Given the description of an element on the screen output the (x, y) to click on. 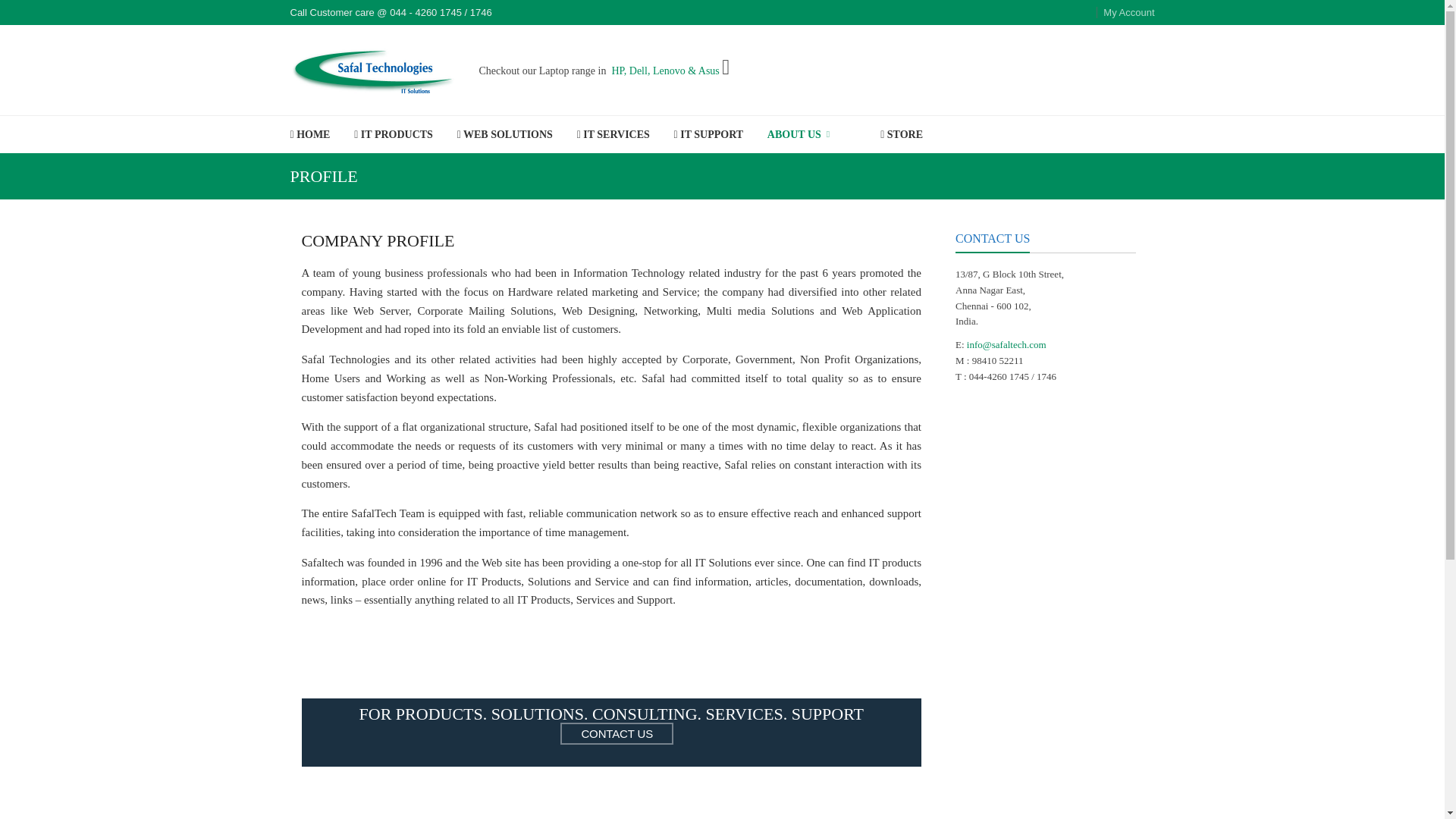
STORE (901, 134)
IT SUPPORT (709, 134)
IT SERVICES (612, 134)
WEB SOLUTIONS (505, 134)
My Account (1125, 12)
HOME (309, 134)
IT PRODUCTS (392, 134)
ABOUT US (798, 135)
